Given the description of an element on the screen output the (x, y) to click on. 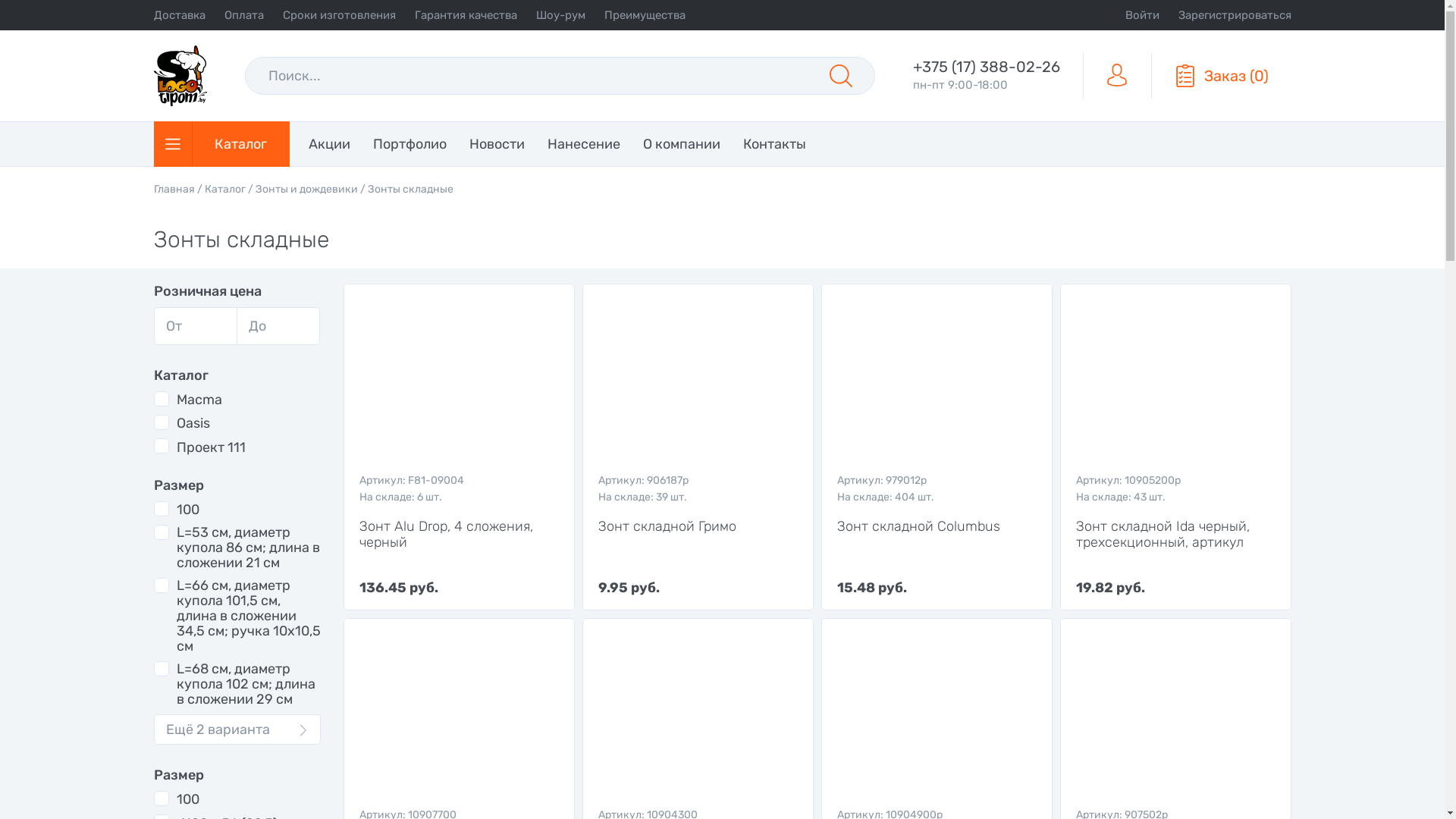
Oasis Element type: text (181, 422)
Macma Element type: text (187, 399)
100 Element type: text (175, 798)
+375 (17) 388-02-26 Element type: text (986, 66)
100 Element type: text (175, 509)
